Given the description of an element on the screen output the (x, y) to click on. 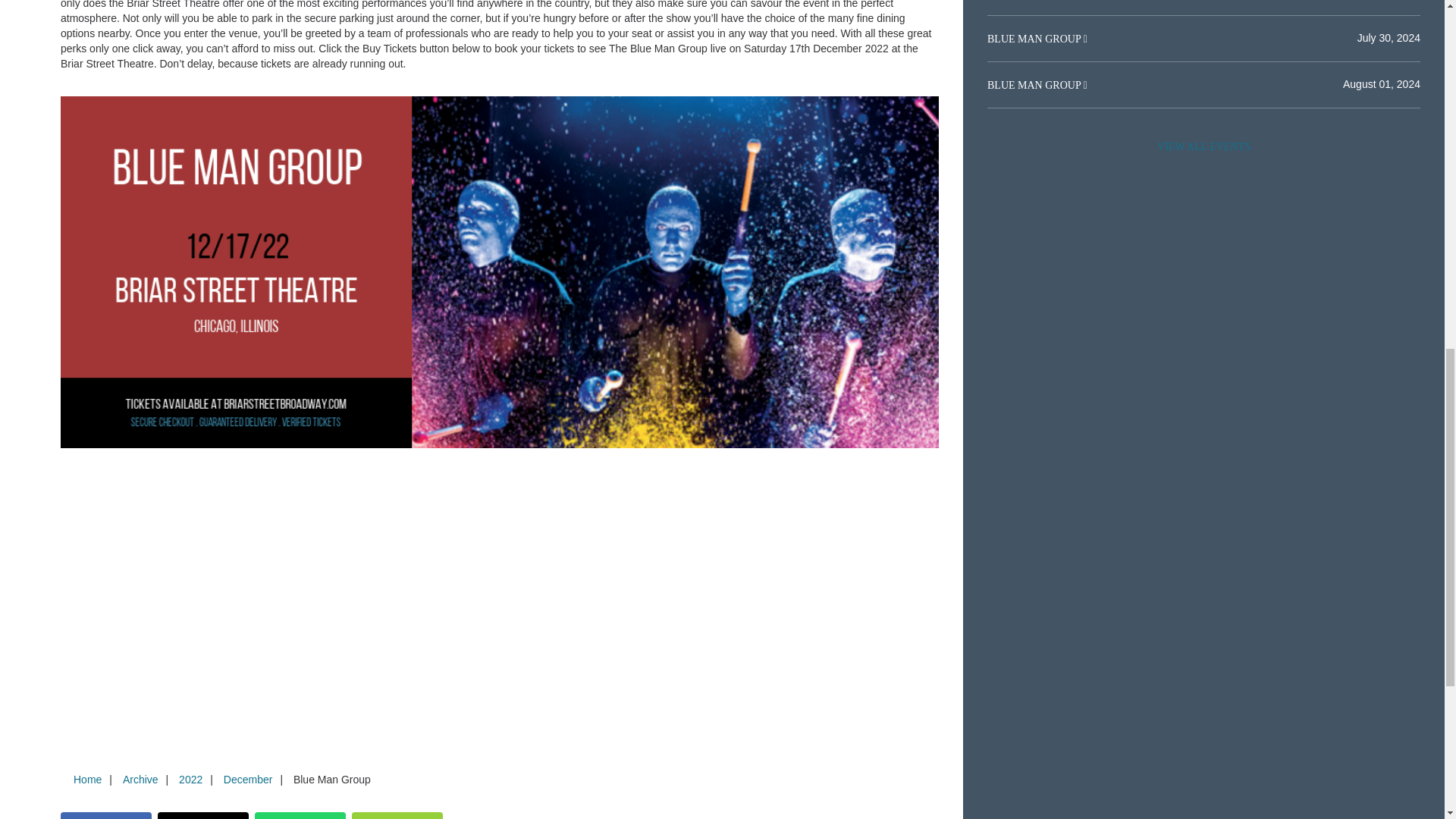
VIEW ALL EVENTS (1203, 146)
Home (87, 779)
Archive (140, 779)
2022 (190, 779)
December (248, 779)
